Given the description of an element on the screen output the (x, y) to click on. 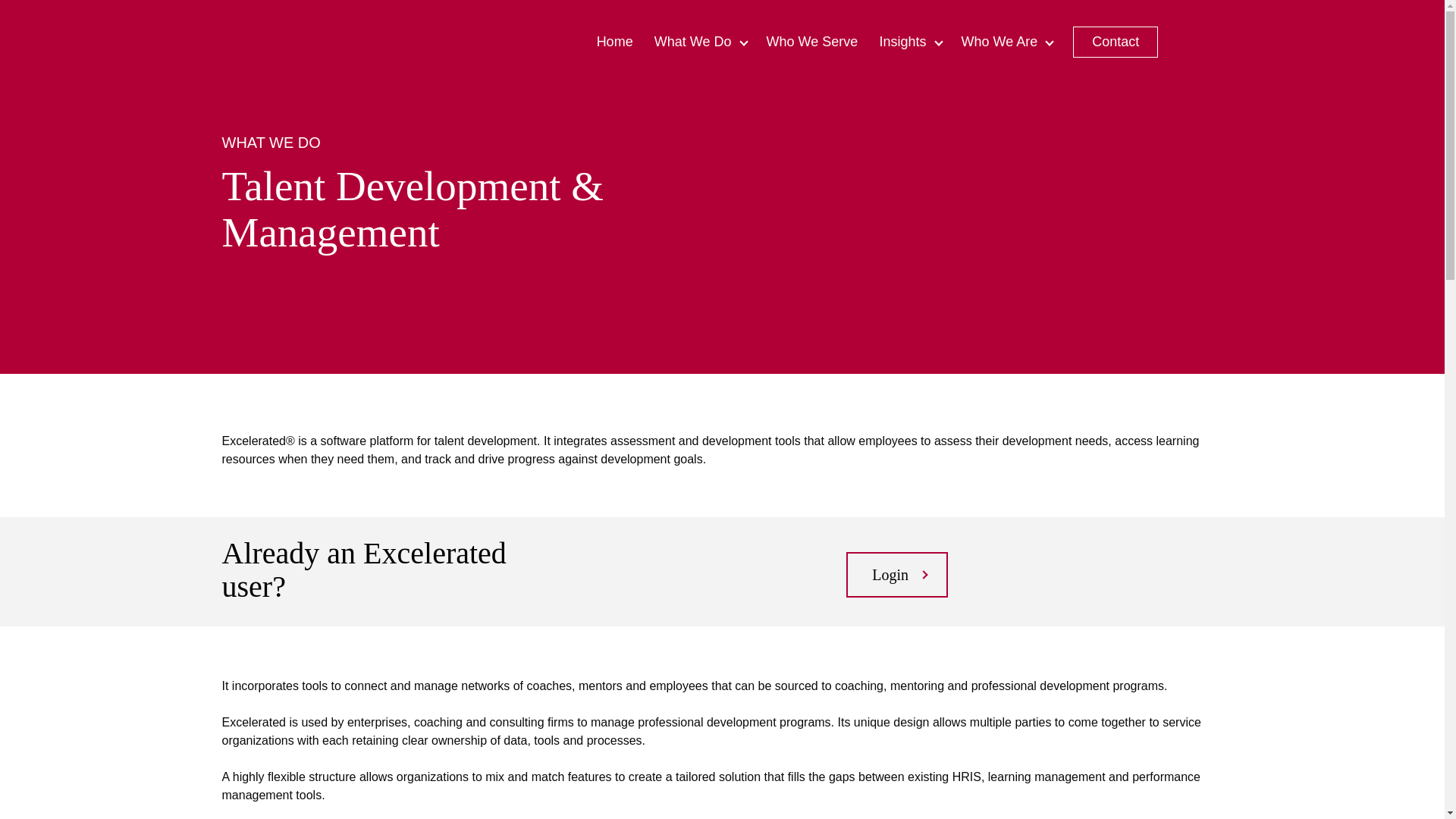
Contact (1115, 41)
Who We Are (1006, 41)
WHAT WE DO (270, 141)
What We Do (699, 41)
Who We Serve (811, 41)
Insights (908, 41)
Login (896, 574)
Home (614, 41)
